Given the description of an element on the screen output the (x, y) to click on. 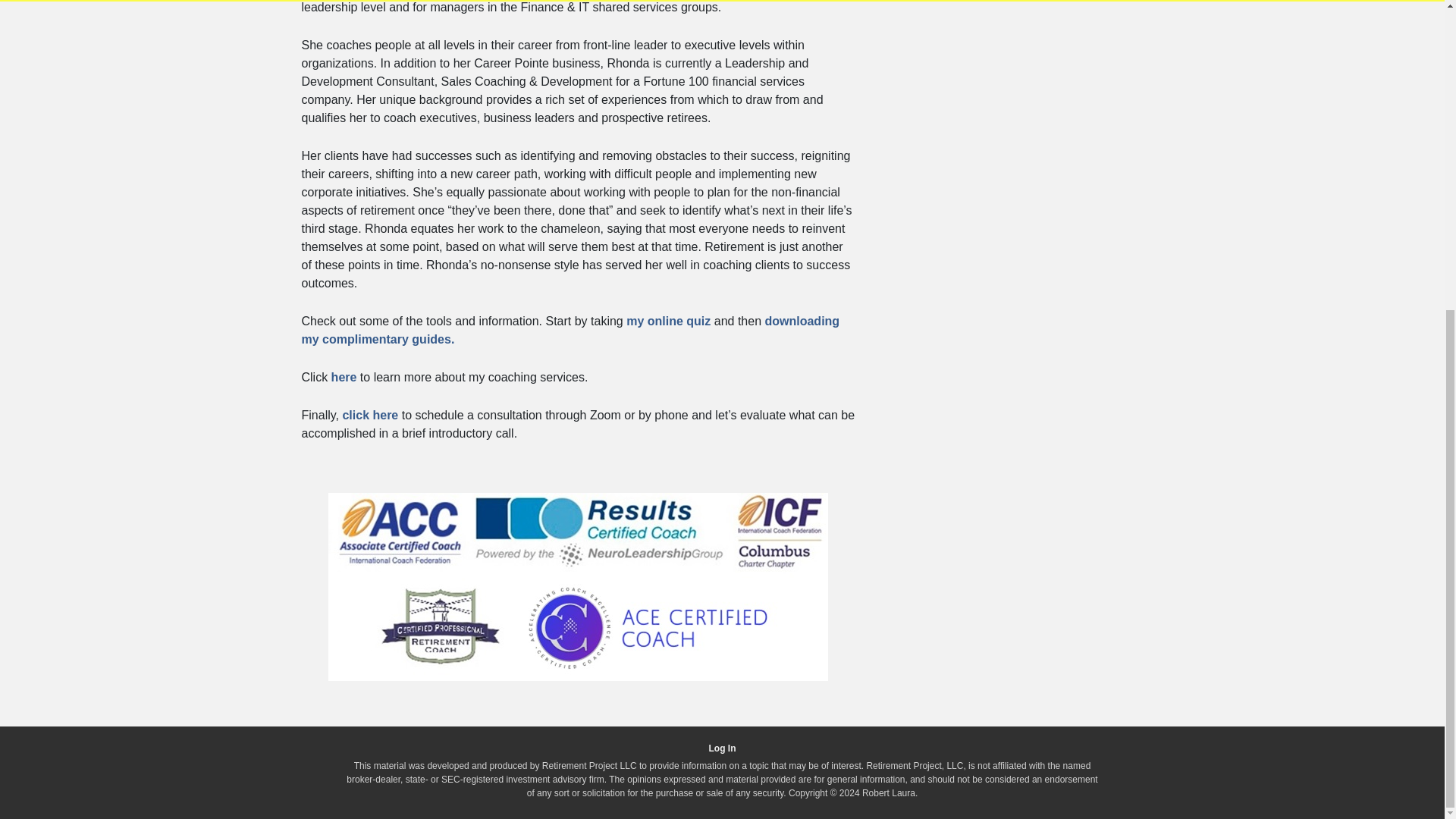
Log In (721, 747)
click here (369, 414)
downloading my complimentary guides. (570, 329)
my online quiz (668, 320)
here (343, 377)
